Given the description of an element on the screen output the (x, y) to click on. 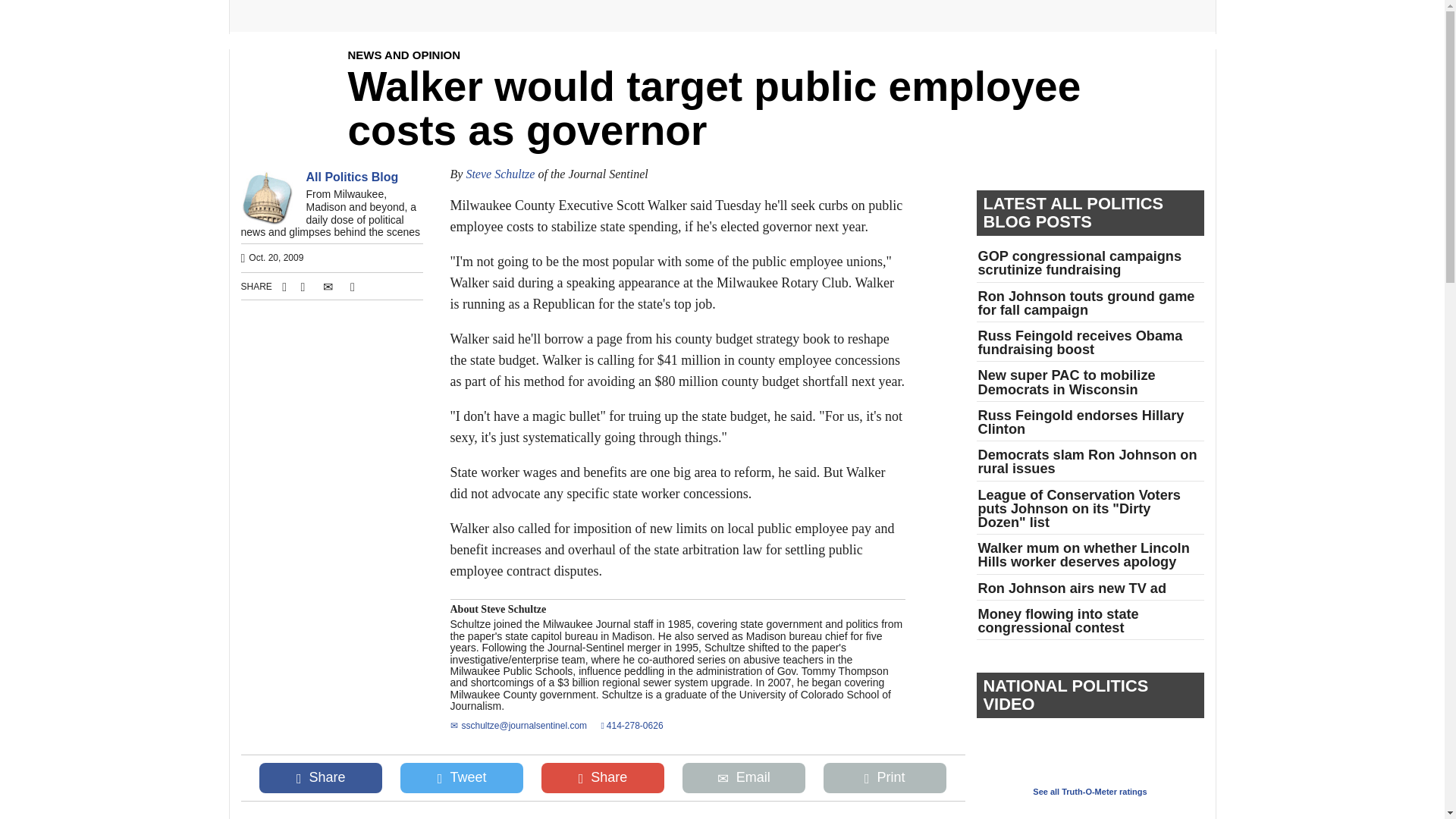
Share this on Twitter (302, 286)
Share this on Facebook (322, 777)
Share this via e-mail (327, 286)
Print this (884, 777)
Share this on Facebook (282, 286)
Share this via e-mail (745, 777)
Print this (352, 286)
Share this on Twitter (463, 777)
